Given the description of an element on the screen output the (x, y) to click on. 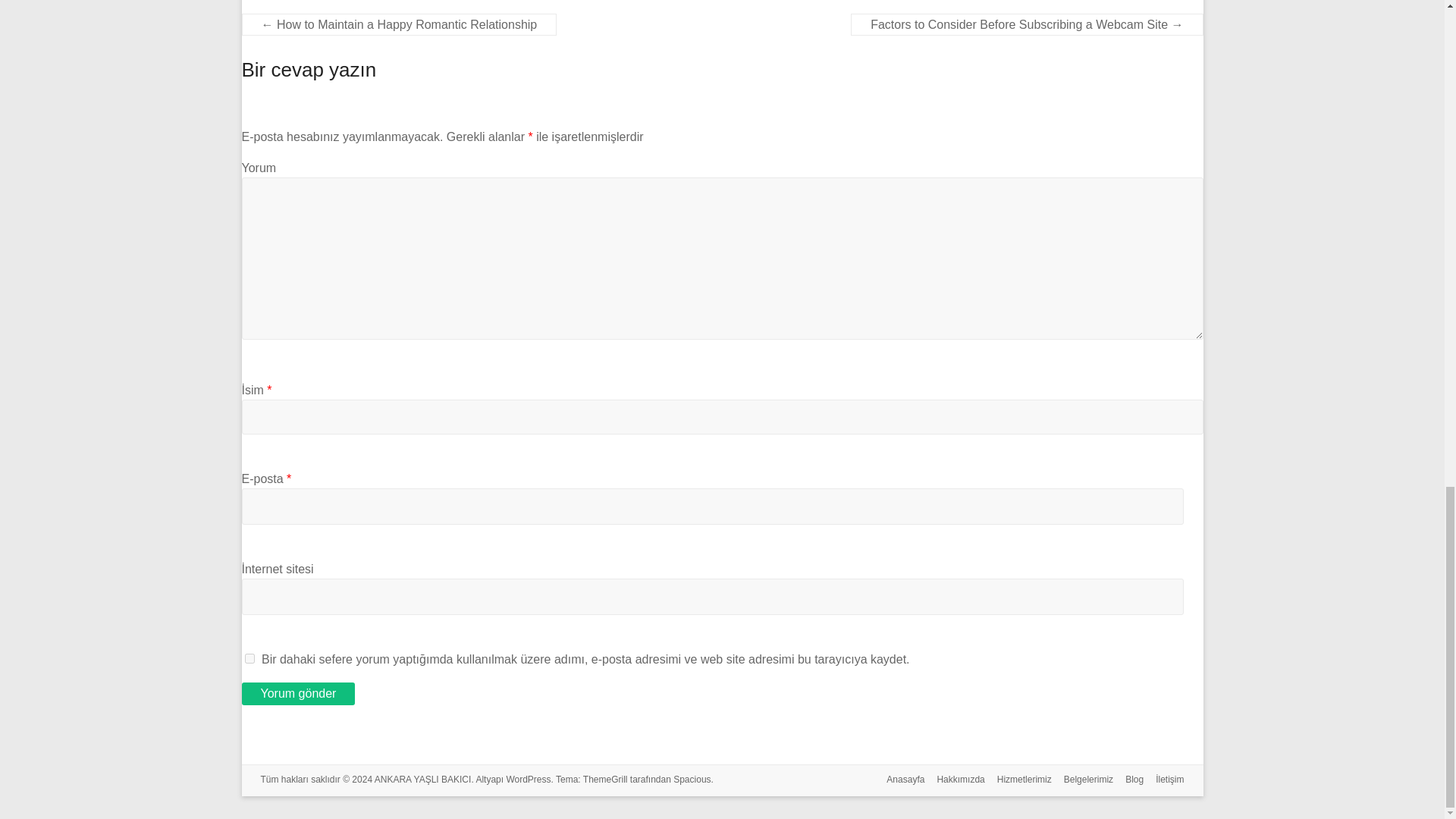
Anasayfa (899, 780)
WordPress (527, 778)
Blog (1127, 780)
ThemeGrill (605, 778)
WordPress (527, 778)
Belgelerimiz (1082, 780)
Hizmetlerimiz (1018, 780)
yes (248, 658)
ThemeGrill (605, 778)
